Given the description of an element on the screen output the (x, y) to click on. 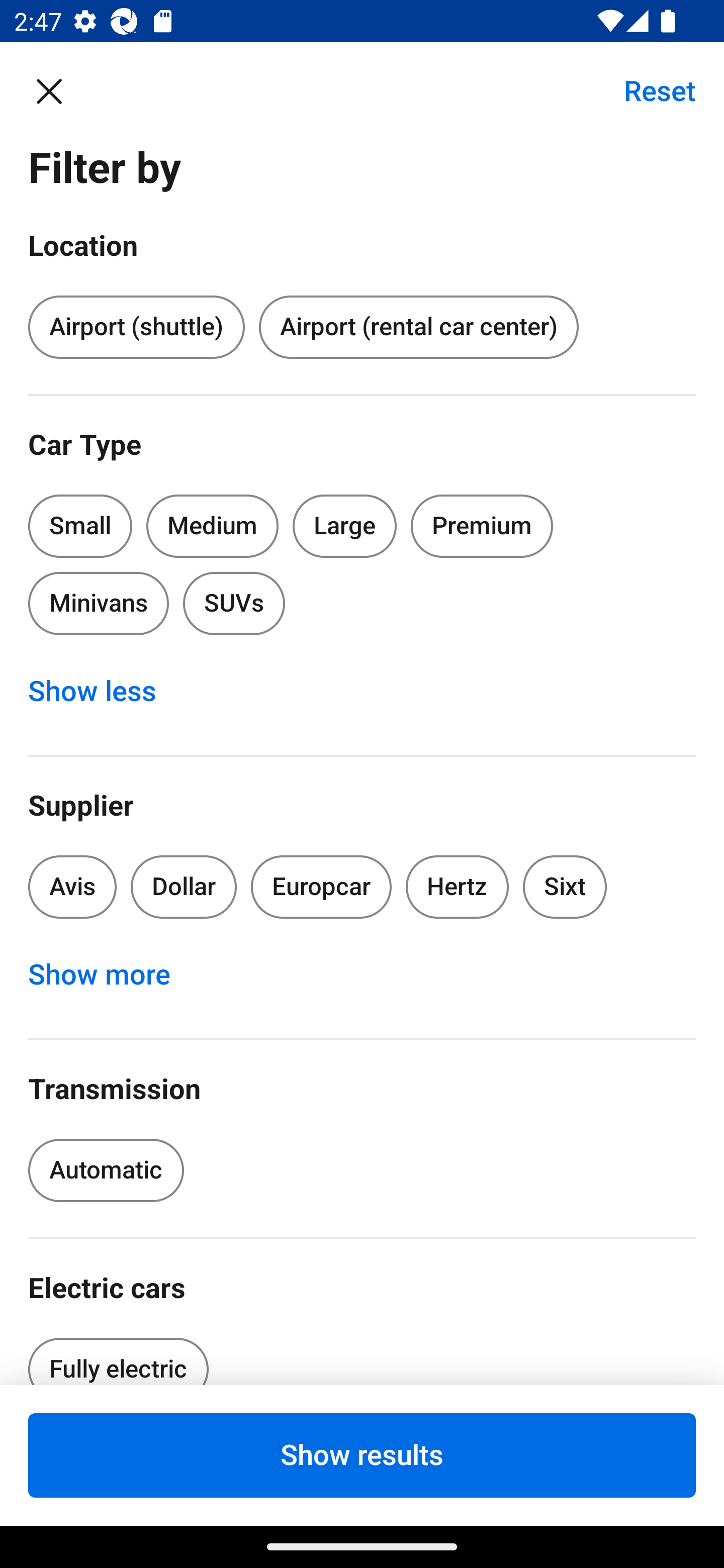
Close (59, 90)
Reset (649, 90)
Airport (shuttle) (136, 327)
Airport (rental car center) (418, 327)
Small (80, 525)
Medium (212, 525)
Large (344, 525)
Premium (482, 525)
Minivans (98, 603)
SUVs (233, 603)
Show less (102, 691)
Avis (72, 887)
Dollar (183, 887)
Europcar (321, 887)
Hertz (457, 887)
Sixt (564, 887)
Show more (109, 974)
Automatic (105, 1170)
Fully electric (118, 1355)
Show results (361, 1454)
